Given the description of an element on the screen output the (x, y) to click on. 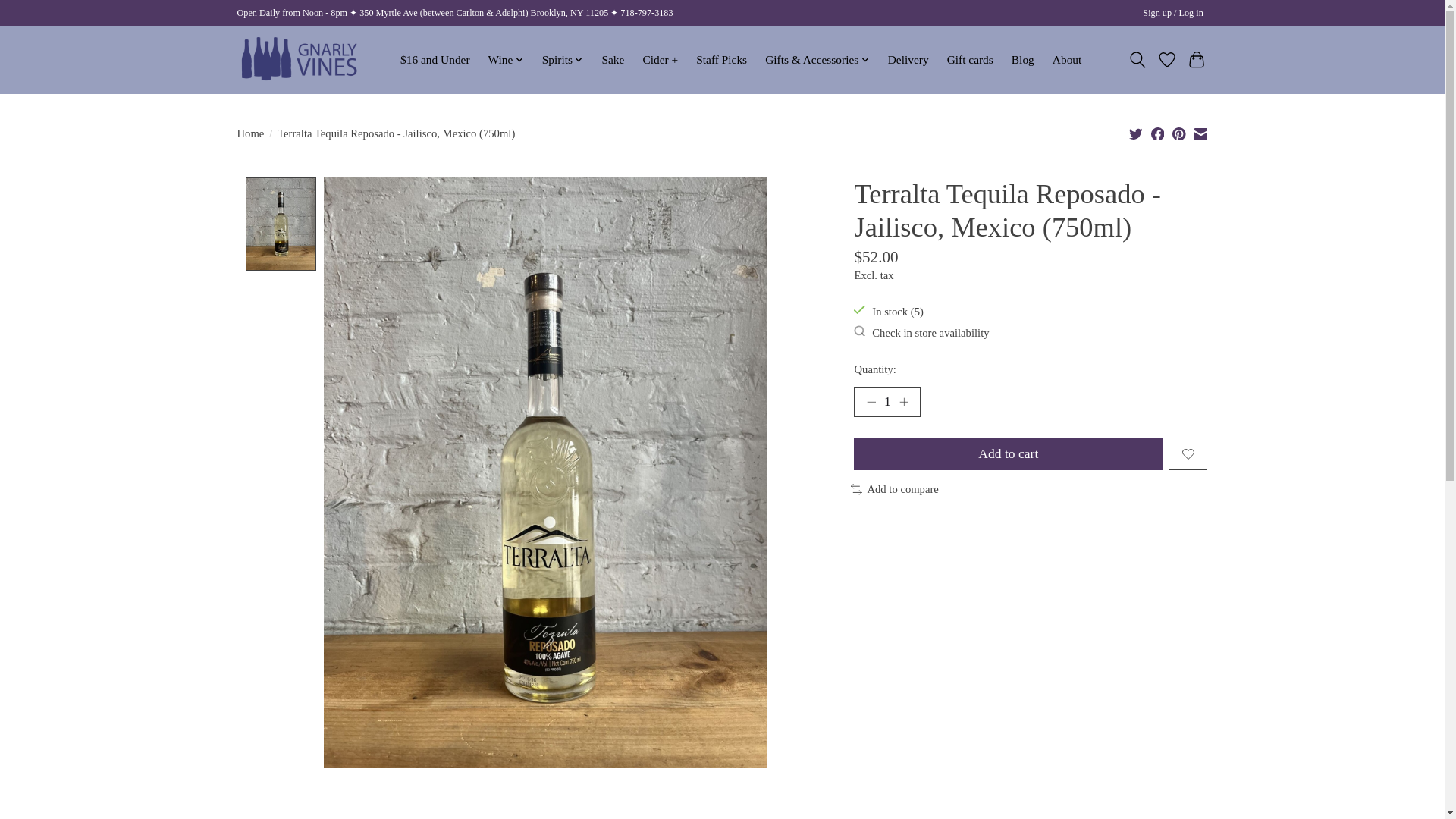
Share on Facebook (1157, 133)
GNARLY VINES (298, 59)
Share by Email (1200, 133)
My account (1173, 13)
Share on Twitter (1135, 133)
Share on Pinterest (1178, 133)
Wine (505, 59)
1 (886, 401)
